Given the description of an element on the screen output the (x, y) to click on. 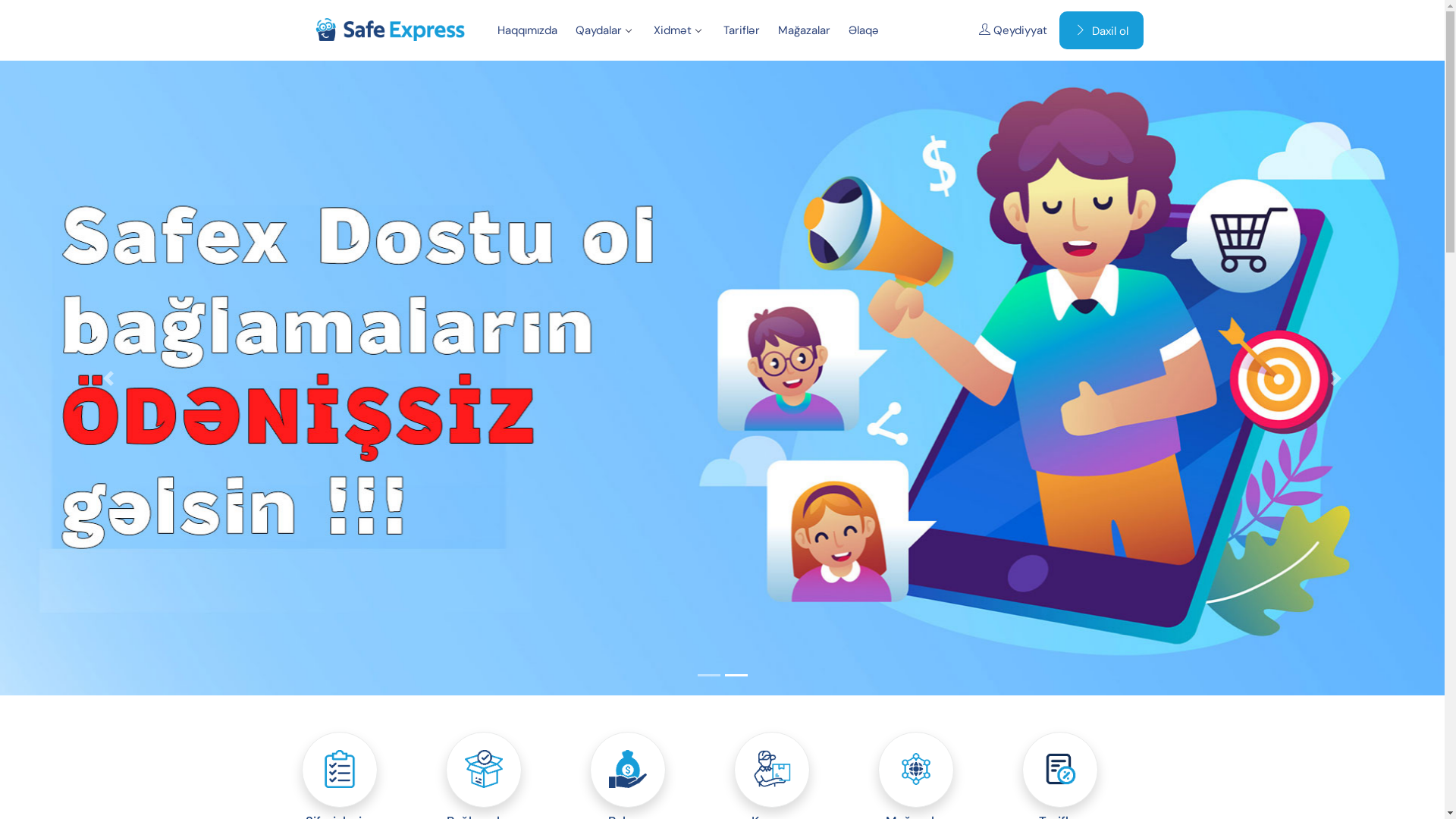
Daxil ol Element type: text (1100, 30)
Qaydalar Element type: text (604, 30)
Qeydiyyat Element type: text (1012, 30)
